Given the description of an element on the screen output the (x, y) to click on. 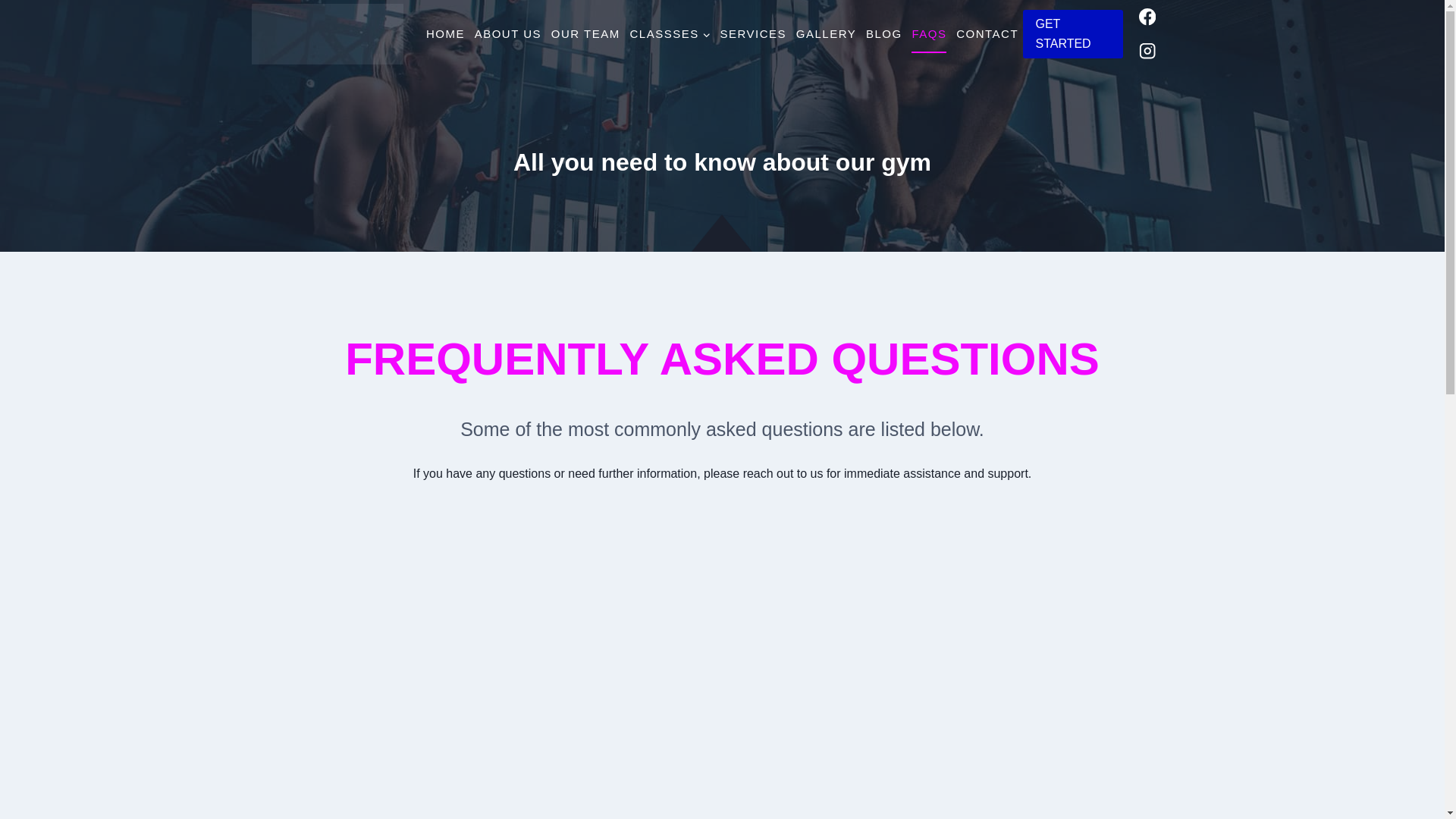
ABOUT US (507, 33)
FAQS (929, 33)
GET STARTED (1072, 33)
CONTACT (987, 33)
HOME (446, 33)
CLASSSES (669, 33)
GALLERY (825, 33)
BLOG (884, 33)
SERVICES (752, 33)
OUR TEAM (585, 33)
